Given the description of an element on the screen output the (x, y) to click on. 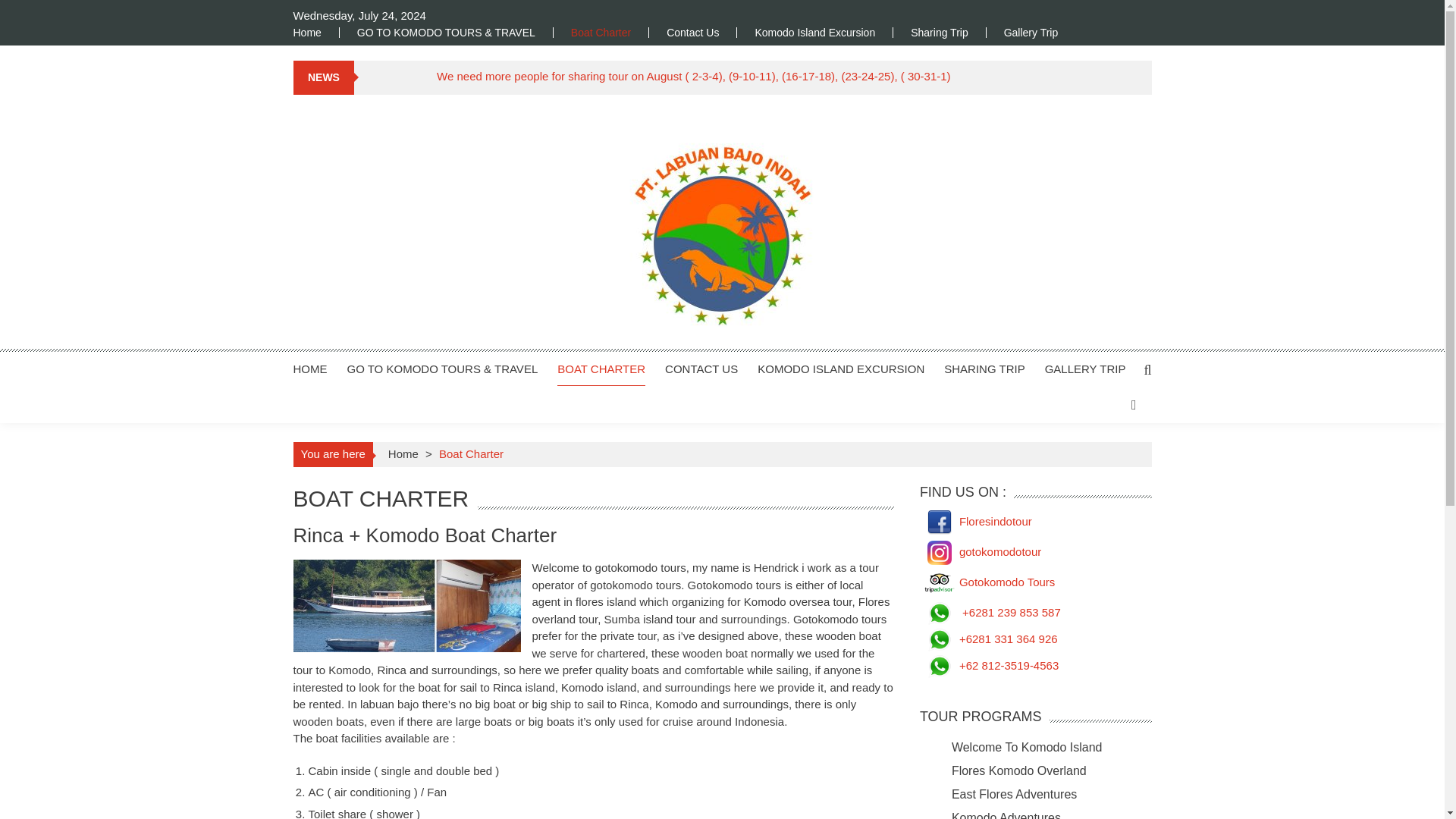
Boat Charter (600, 32)
gotokomodotour (980, 550)
East Flores Adventures (1014, 793)
Gotokomodo Tours (987, 581)
Welcome To Komodo Island (1027, 746)
sharing trip (938, 32)
GALLERY TRIP (1085, 368)
HOME (309, 368)
Komodo Island Excursion (814, 32)
Sharing Trip (938, 32)
Komodo Adventures (1006, 815)
BOAT CHARTER (601, 368)
Home (314, 32)
Floresindotour (976, 520)
Floresindotour (976, 520)
